Given the description of an element on the screen output the (x, y) to click on. 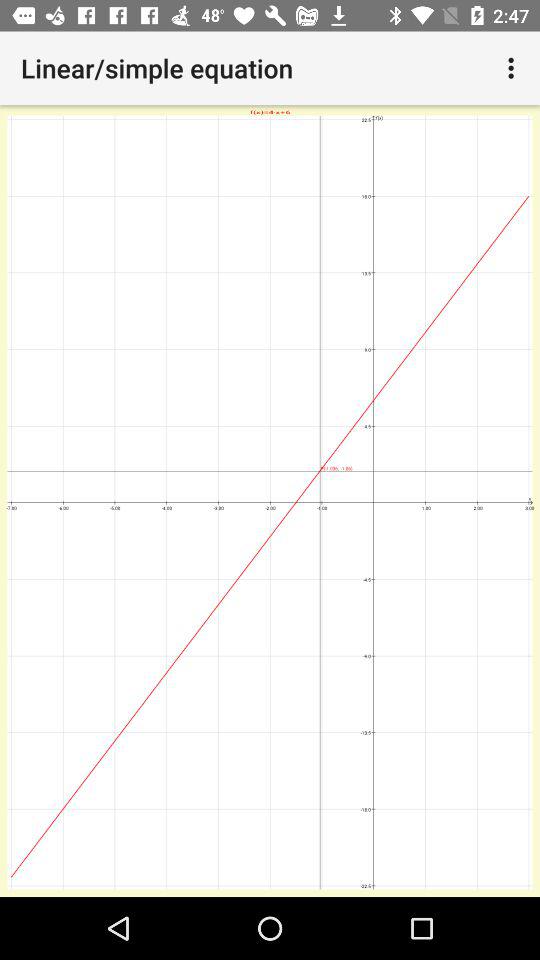
turn off the icon at the top right corner (513, 67)
